Given the description of an element on the screen output the (x, y) to click on. 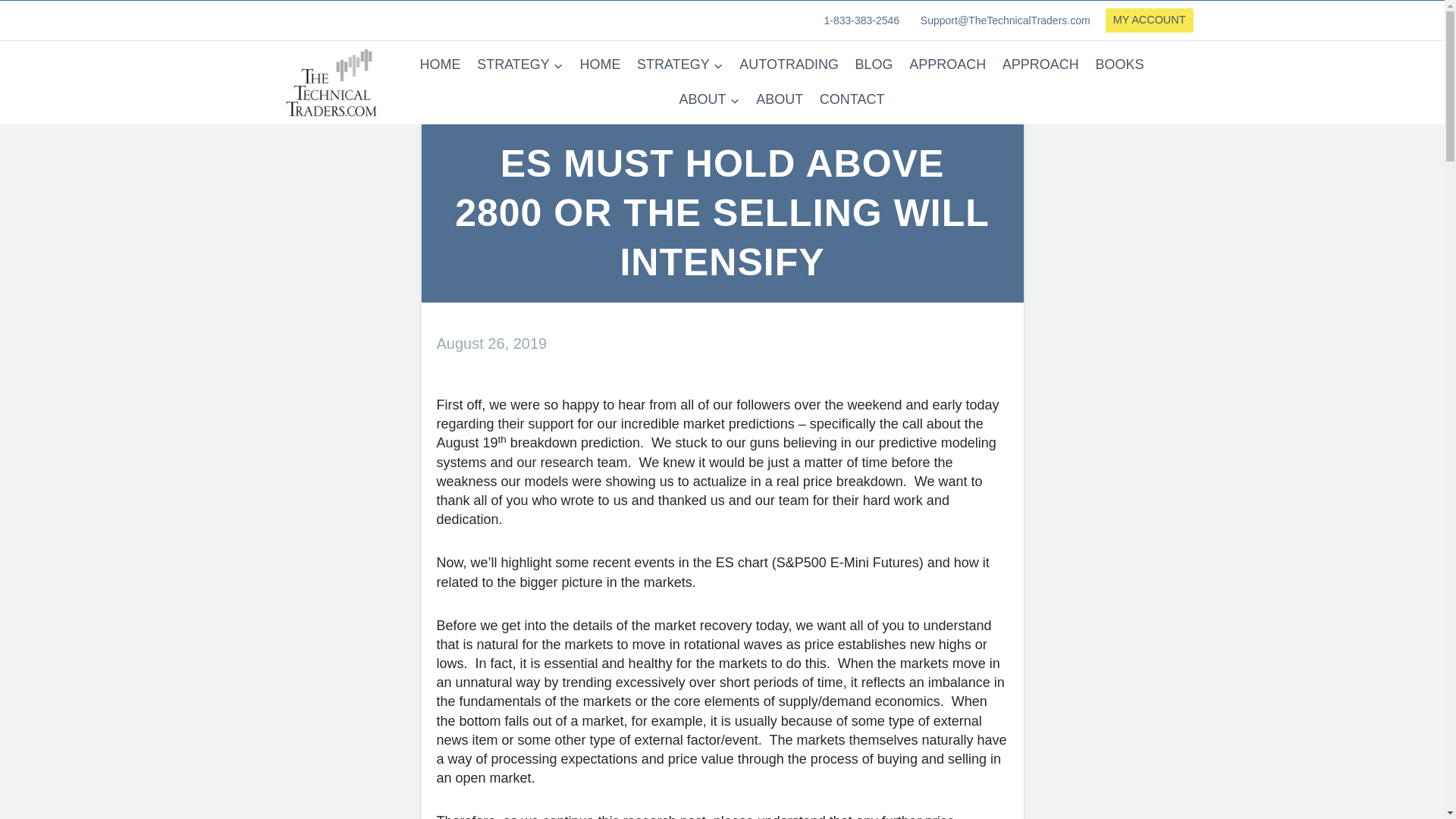
MY ACCOUNT (1149, 20)
CONTACT (851, 99)
HOME (600, 64)
APPROACH (947, 64)
STRATEGY (679, 64)
BLOG (874, 64)
ABOUT (709, 99)
BOOKS (1120, 64)
APPROACH (1040, 64)
STRATEGY (519, 64)
